Given the description of an element on the screen output the (x, y) to click on. 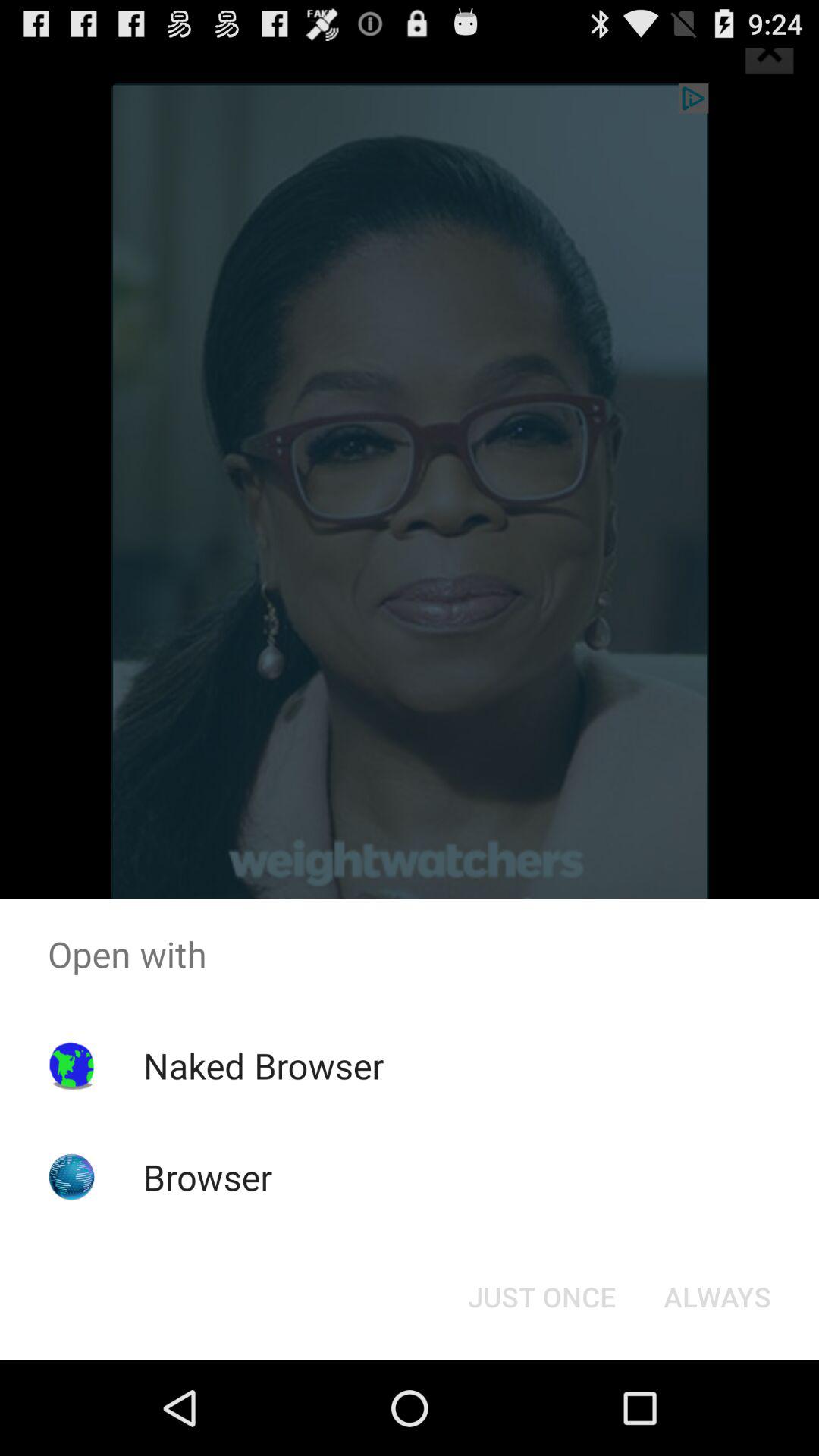
jump until naked browser icon (263, 1065)
